Given the description of an element on the screen output the (x, y) to click on. 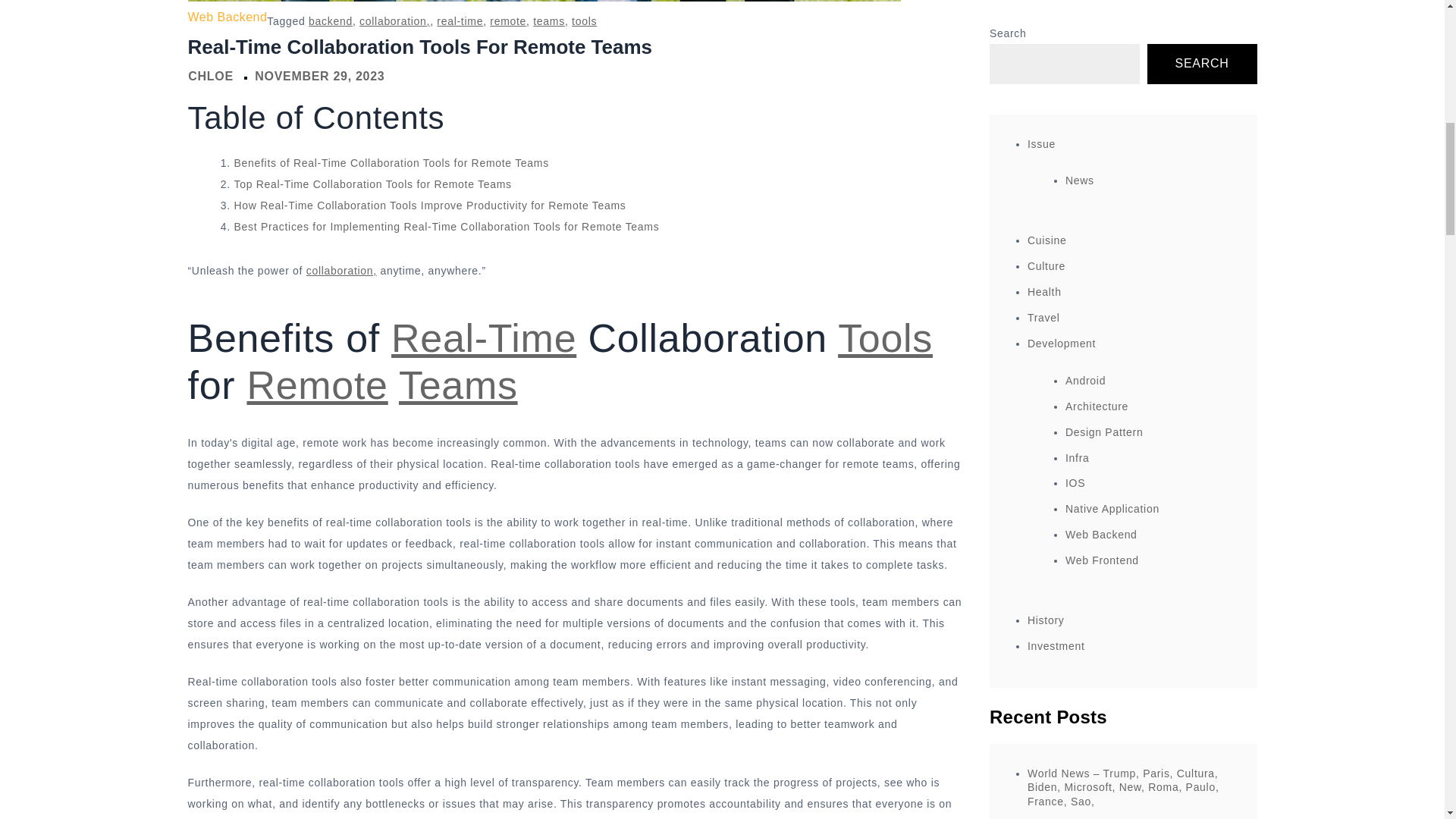
CHLOE (209, 75)
Posts tagged with remote (316, 385)
Top Real-Time Collaboration Tools for Remote Teams (371, 184)
Teams (458, 385)
Posts tagged with teams (458, 385)
Posts tagged with collaboration, (341, 270)
Web Backend (227, 17)
tools (584, 21)
teams (548, 21)
collaboration, (341, 270)
backend (330, 21)
Benefits of Real-Time Collaboration Tools for Remote Teams (390, 162)
real-time (459, 21)
